Given the description of an element on the screen output the (x, y) to click on. 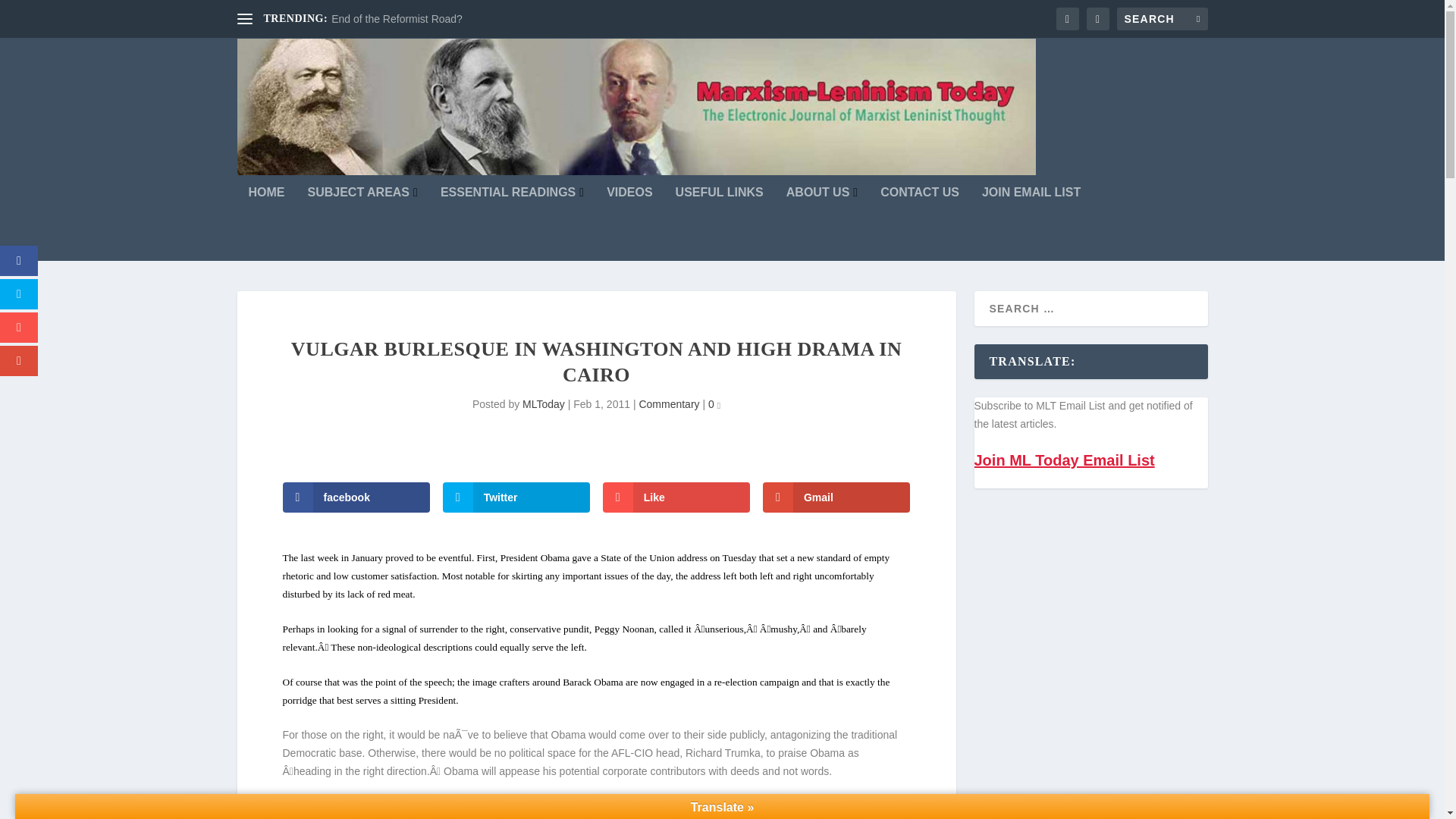
End of the Reformist Road? (397, 19)
ESSENTIAL READINGS (512, 223)
SUBJECT AREAS (362, 223)
USEFUL LINKS (718, 223)
ABOUT US (821, 223)
Search for: (1161, 18)
Posts by MLToday (543, 404)
